Given the description of an element on the screen output the (x, y) to click on. 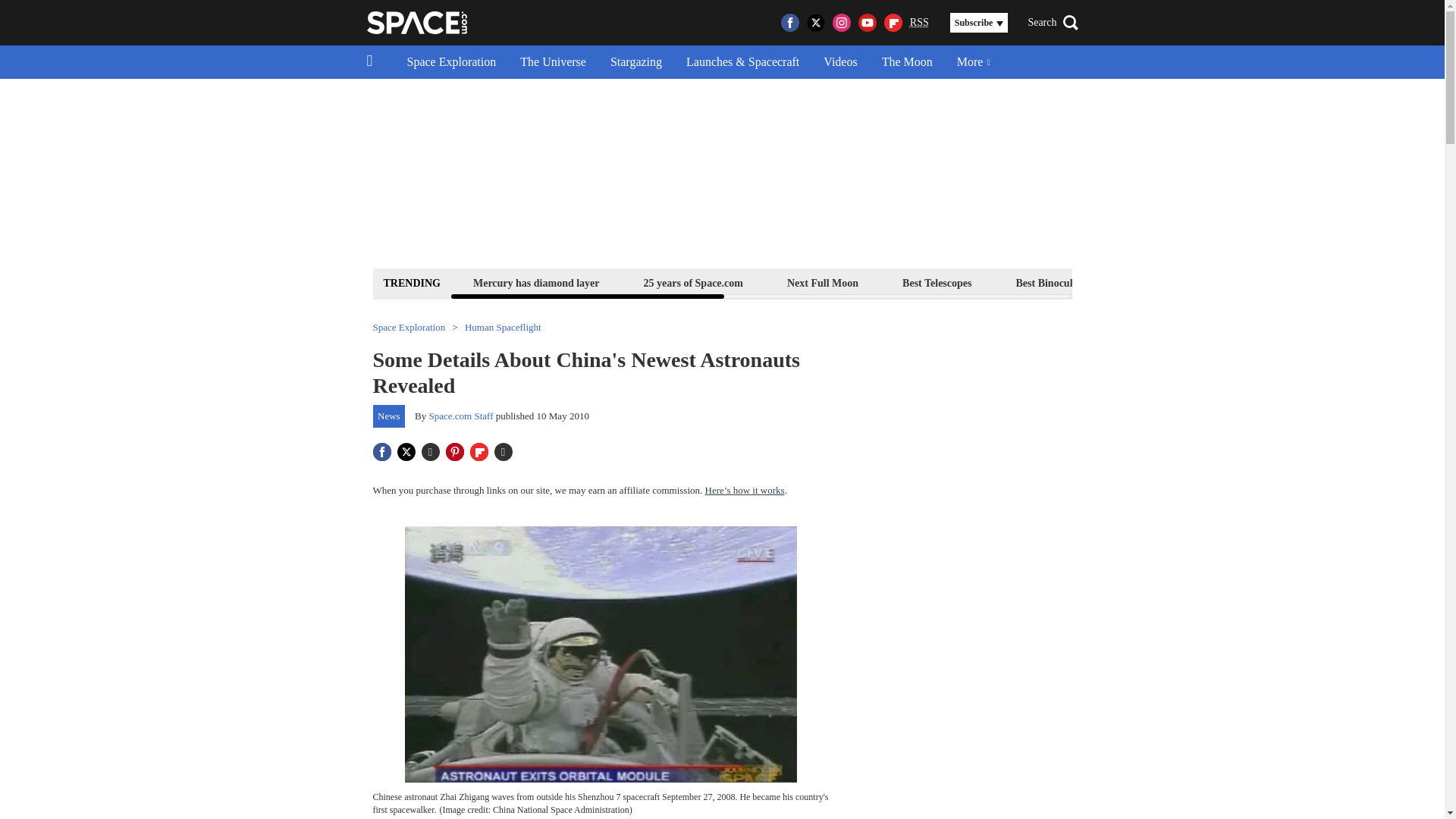
RSS (919, 22)
Space Calendar (1301, 282)
The Universe (553, 61)
Next Full Moon (822, 282)
Best Telescopes (936, 282)
Mercury has diamond layer (536, 282)
The Moon (906, 61)
Videos (839, 61)
Space Exploration (451, 61)
25 years of Space.com (693, 282)
Best Binoculars (1051, 282)
Really Simple Syndication (919, 21)
Stargazing (636, 61)
Best Star Projectors (1176, 282)
